Given the description of an element on the screen output the (x, y) to click on. 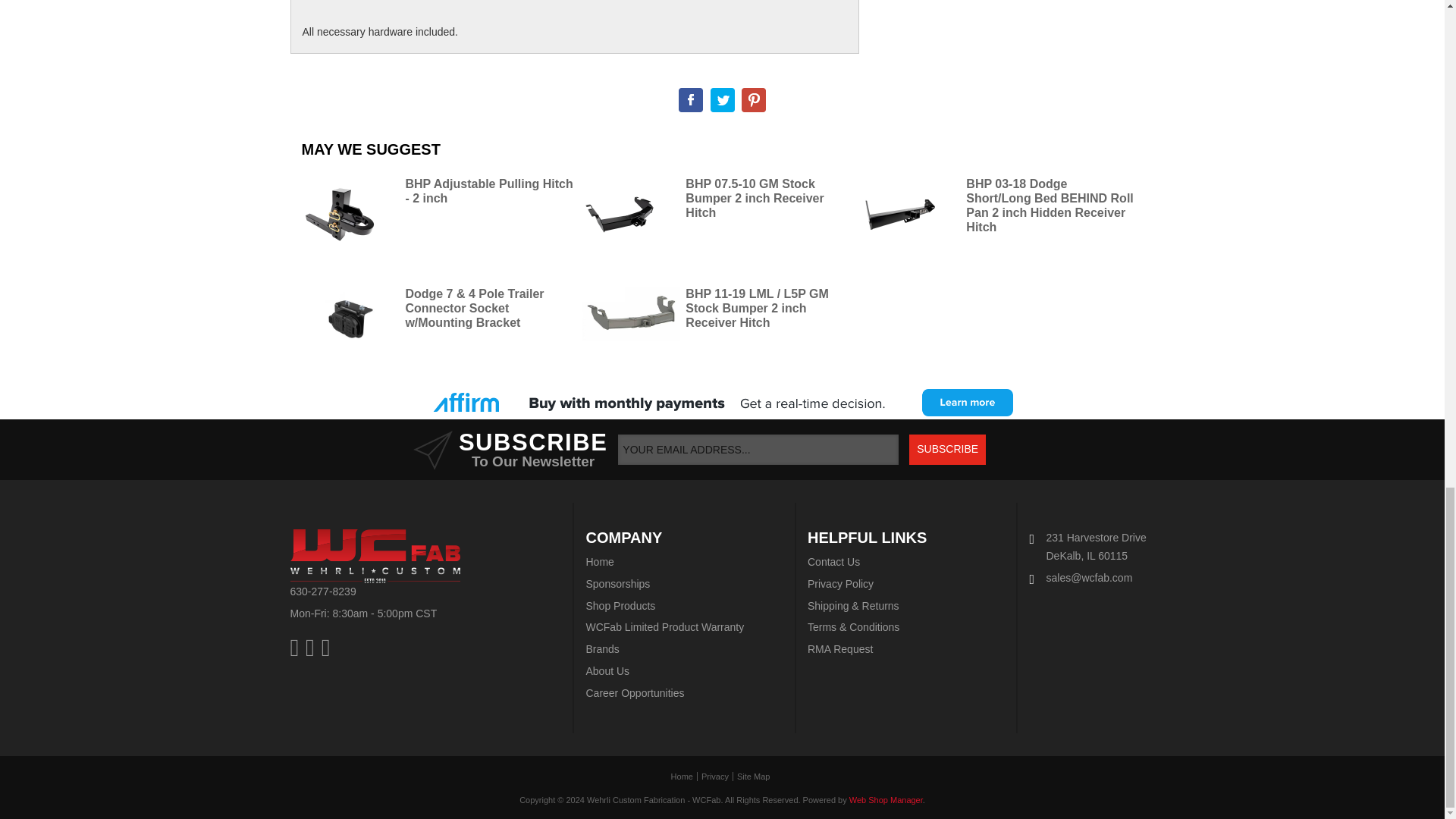
Subscribe (946, 449)
YOUR EMAIL ADDRESS... (757, 449)
